Given the description of an element on the screen output the (x, y) to click on. 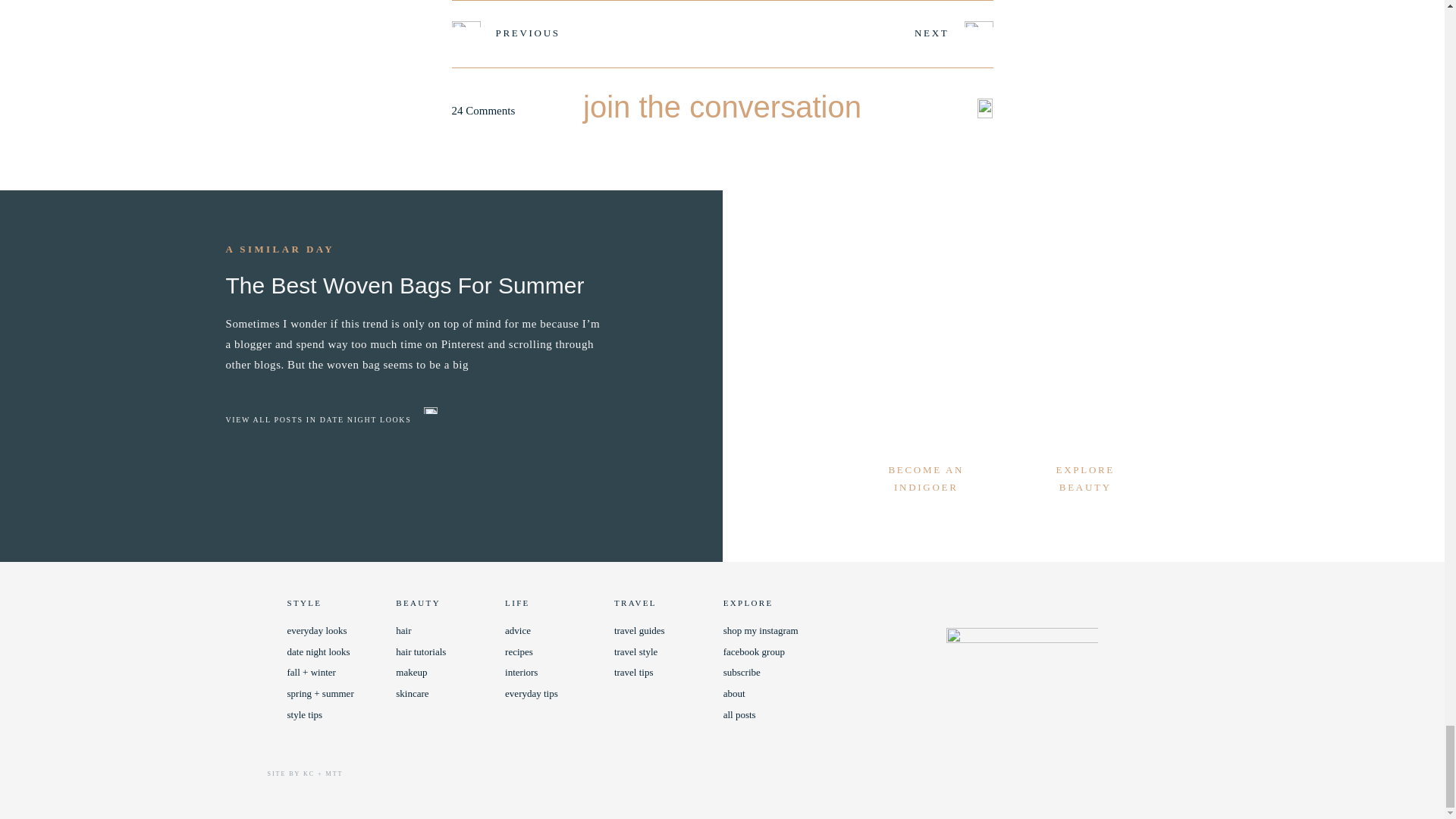
The Best Woven Bags For Summer (413, 323)
